Given the description of an element on the screen output the (x, y) to click on. 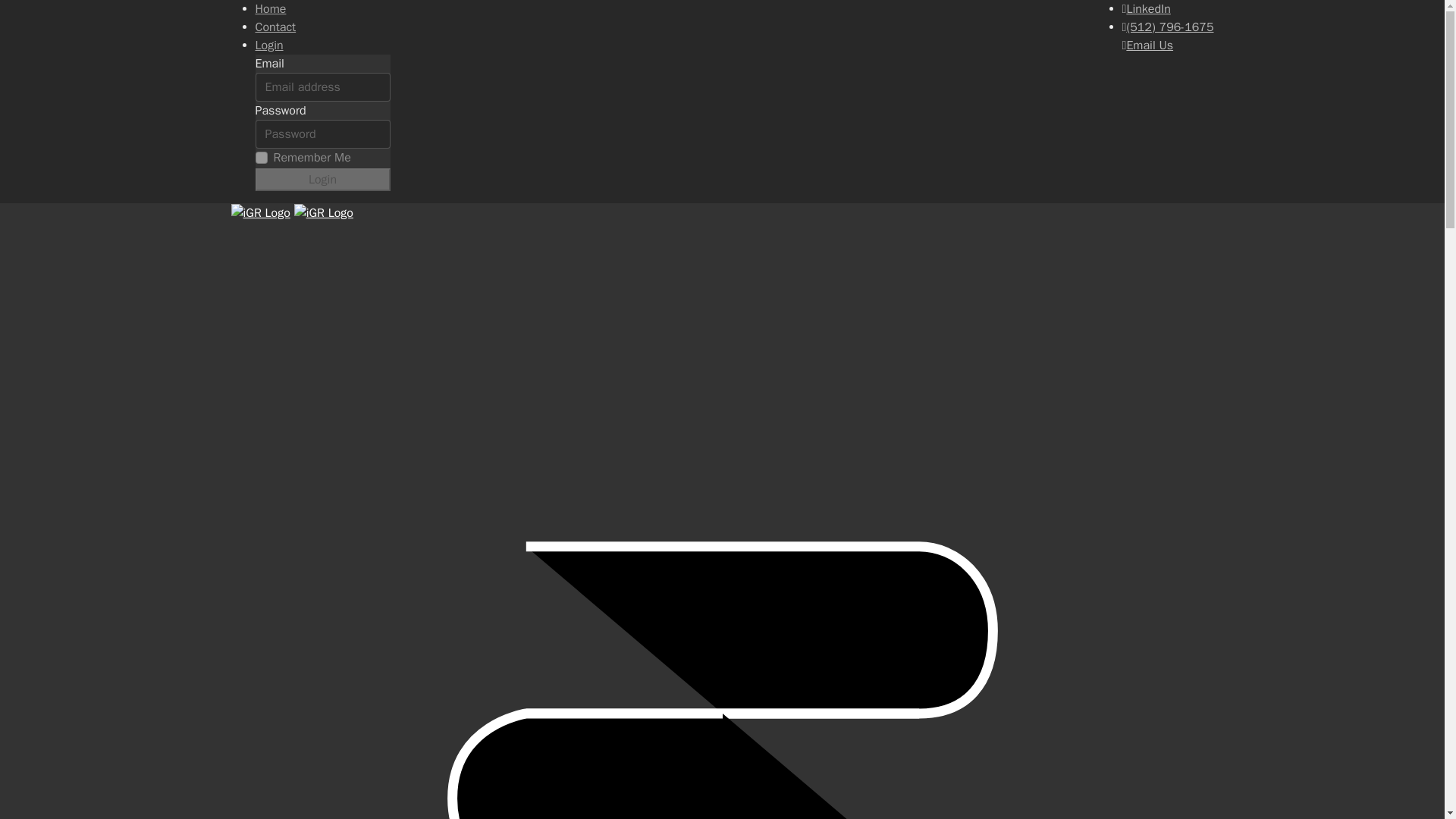
Email Us (1147, 45)
Contact (274, 27)
Login (268, 45)
LinkedIn (1146, 8)
Login (322, 179)
Home (269, 8)
